Given the description of an element on the screen output the (x, y) to click on. 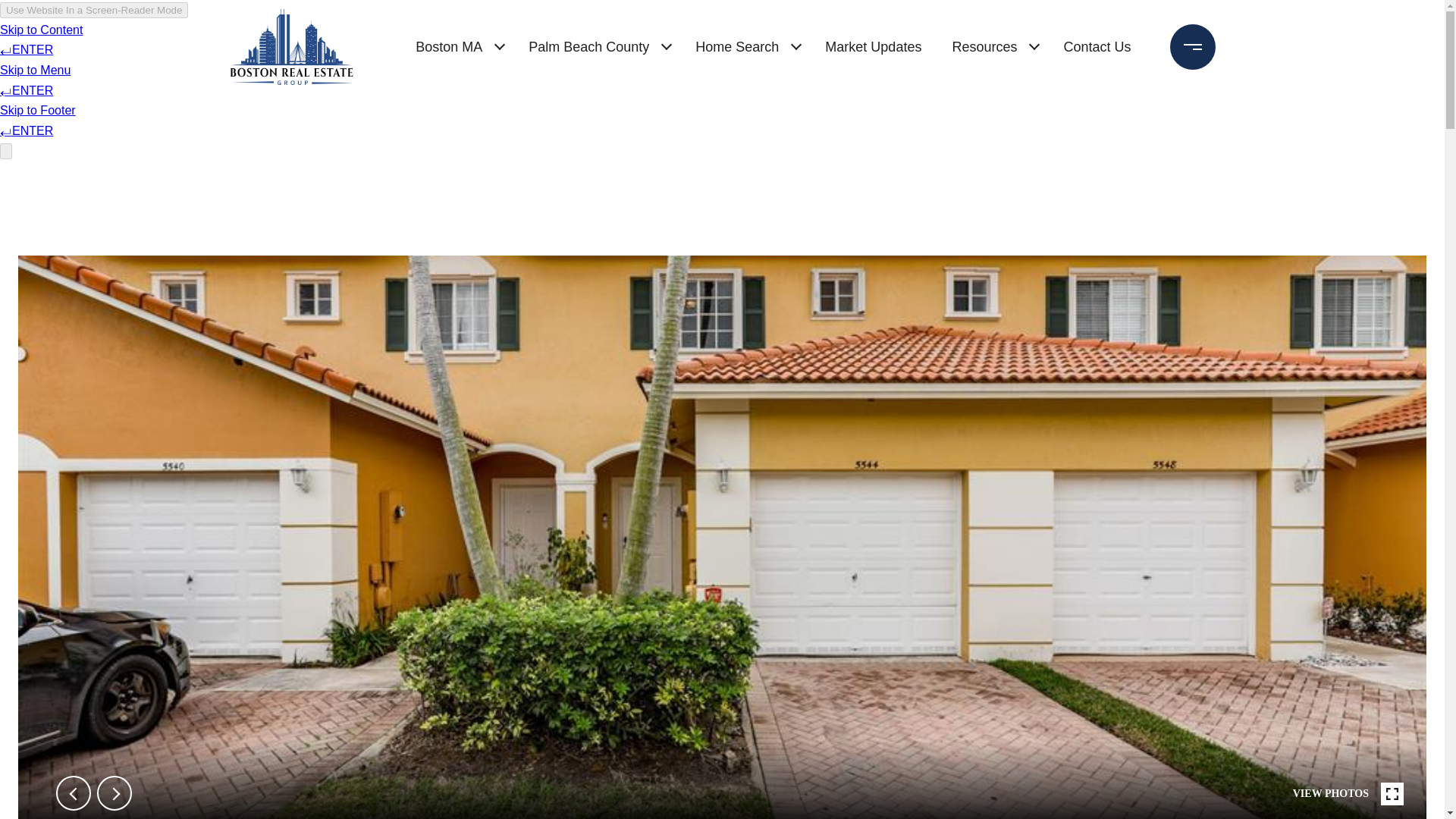
Home Search (736, 46)
Contact Us (1096, 46)
Palm Beach County (588, 46)
Resources (984, 46)
Boston MA (448, 46)
Market Updates (872, 46)
